Given the description of an element on the screen output the (x, y) to click on. 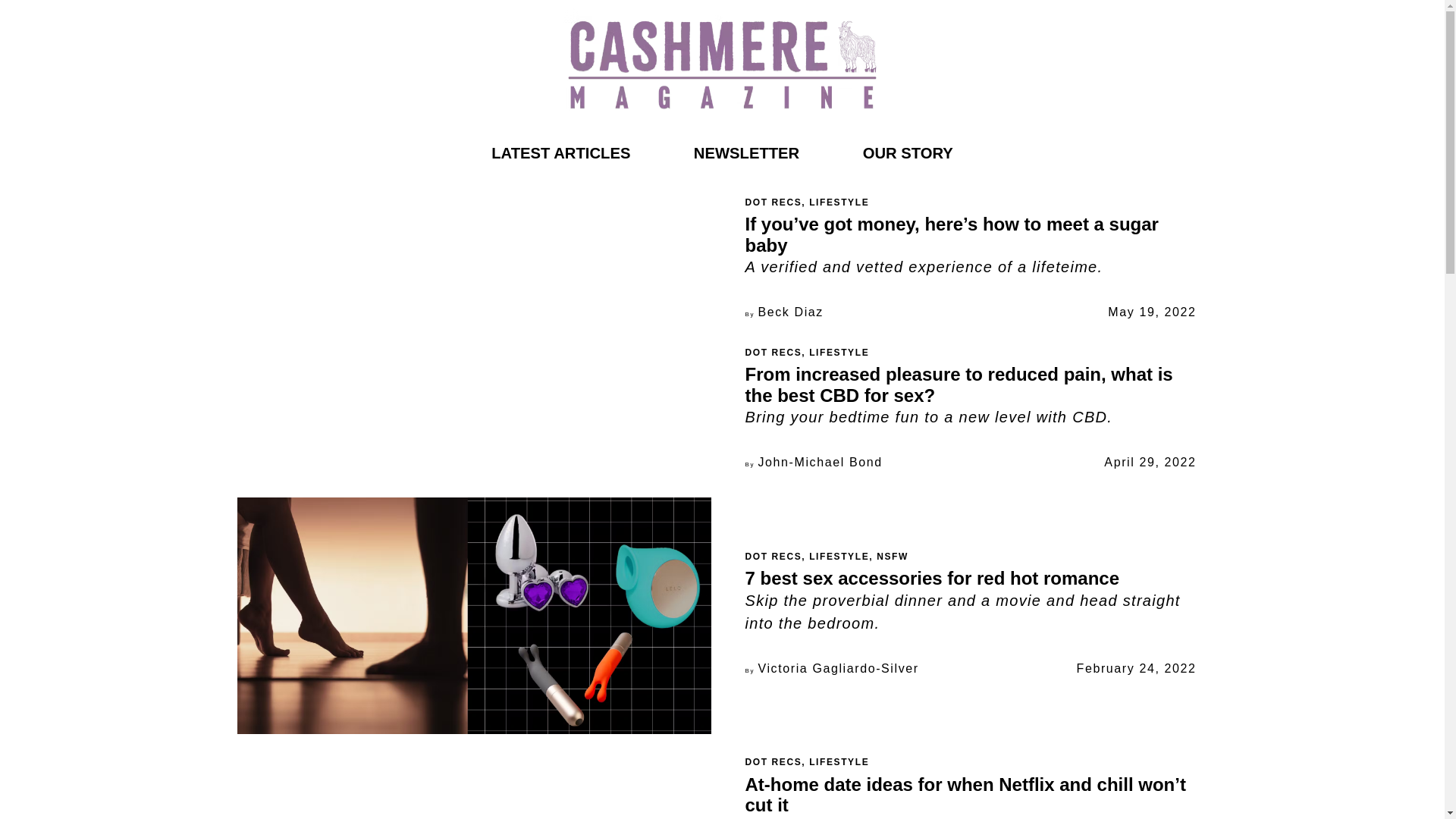
7 best sex accessories for red hot romance (931, 578)
NSFW (892, 556)
OUR STORY (908, 152)
LIFESTYLE (839, 761)
NEWSLETTER (745, 152)
LIFESTYLE (839, 556)
LATEST ARTICLES (560, 152)
DOT RECS (773, 202)
DOT RECS (773, 556)
DOT RECS (773, 761)
LIFESTYLE (839, 352)
LIFESTYLE (839, 202)
DOT RECS (773, 352)
